Given the description of an element on the screen output the (x, y) to click on. 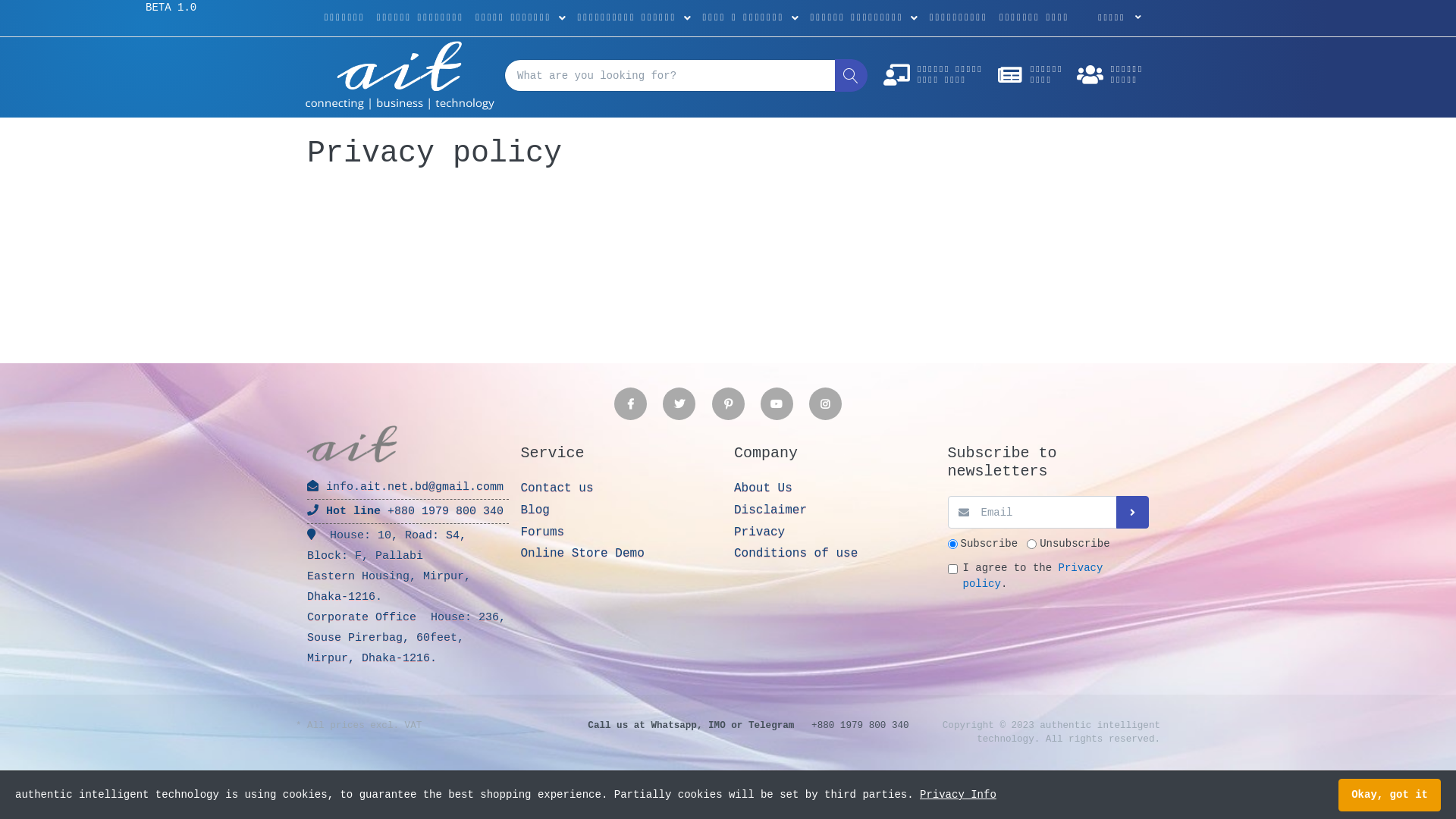
Online Store Demo Element type: text (620, 553)
Privacy policy Element type: text (1033, 575)
Contact us Element type: text (620, 488)
Privacy Info Element type: text (957, 794)
Forums Element type: text (620, 532)
Disclaimer Element type: text (834, 510)
authentic intelligent technology Element type: hover (400, 74)
Privacy Element type: text (834, 532)
Conditions of use Element type: text (834, 553)
Hot line +880 1979 800 340 Element type: text (407, 511)
Search Element type: hover (850, 75)
info.ait.net.bd@gmail.comm Element type: text (407, 486)
Blog Element type: text (620, 510)
Okay, got it Element type: text (1389, 794)
Call us at Whatsapp, IMO or Telegram   +880 1979 800 340 Element type: text (747, 725)
About Us Element type: text (834, 488)
Submit Element type: hover (1132, 511)
authentic intelligent technology Element type: hover (352, 443)
